Given the description of an element on the screen output the (x, y) to click on. 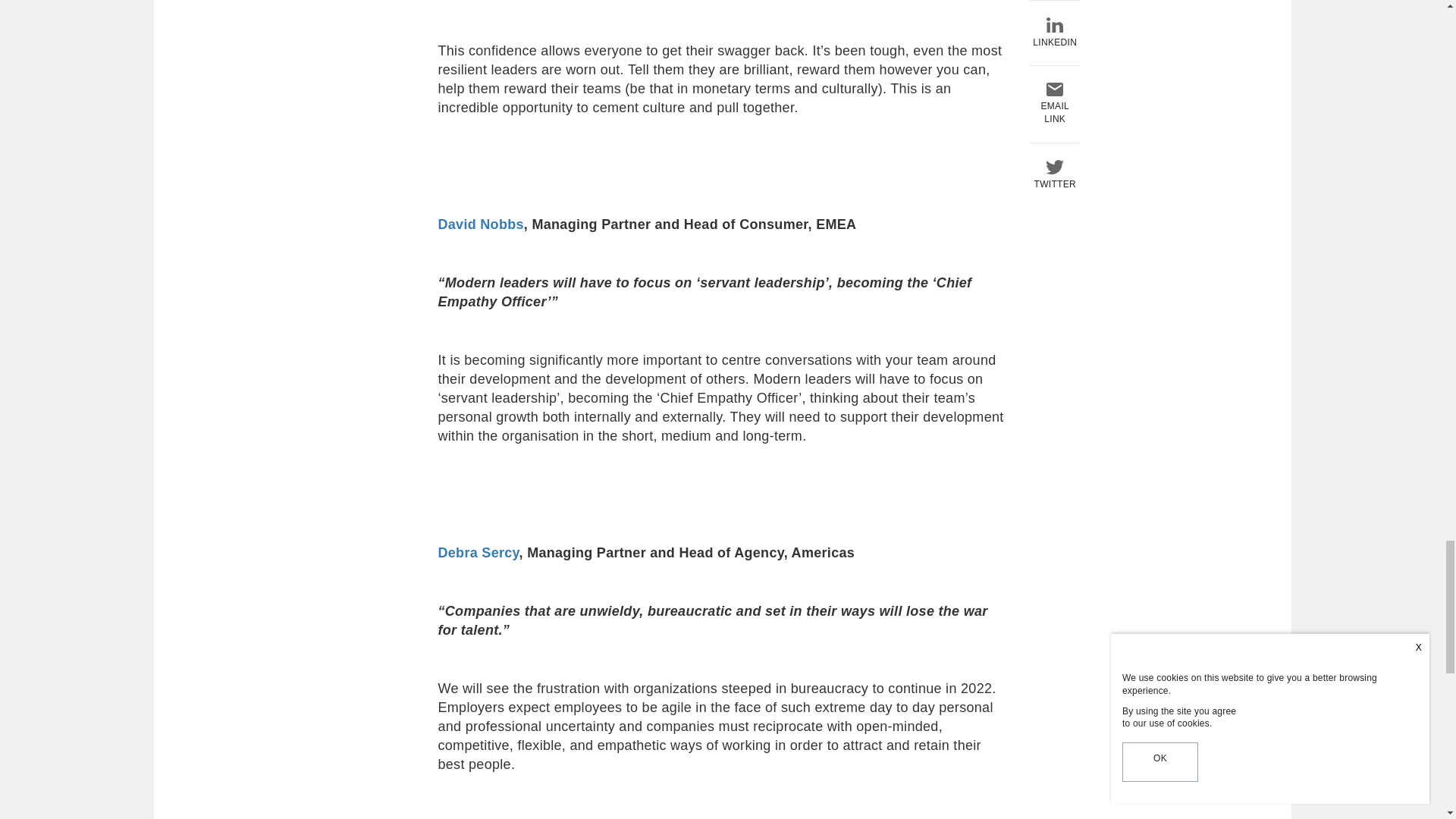
David Nobbs (481, 224)
Debra Sercy (478, 552)
